Given the description of an element on the screen output the (x, y) to click on. 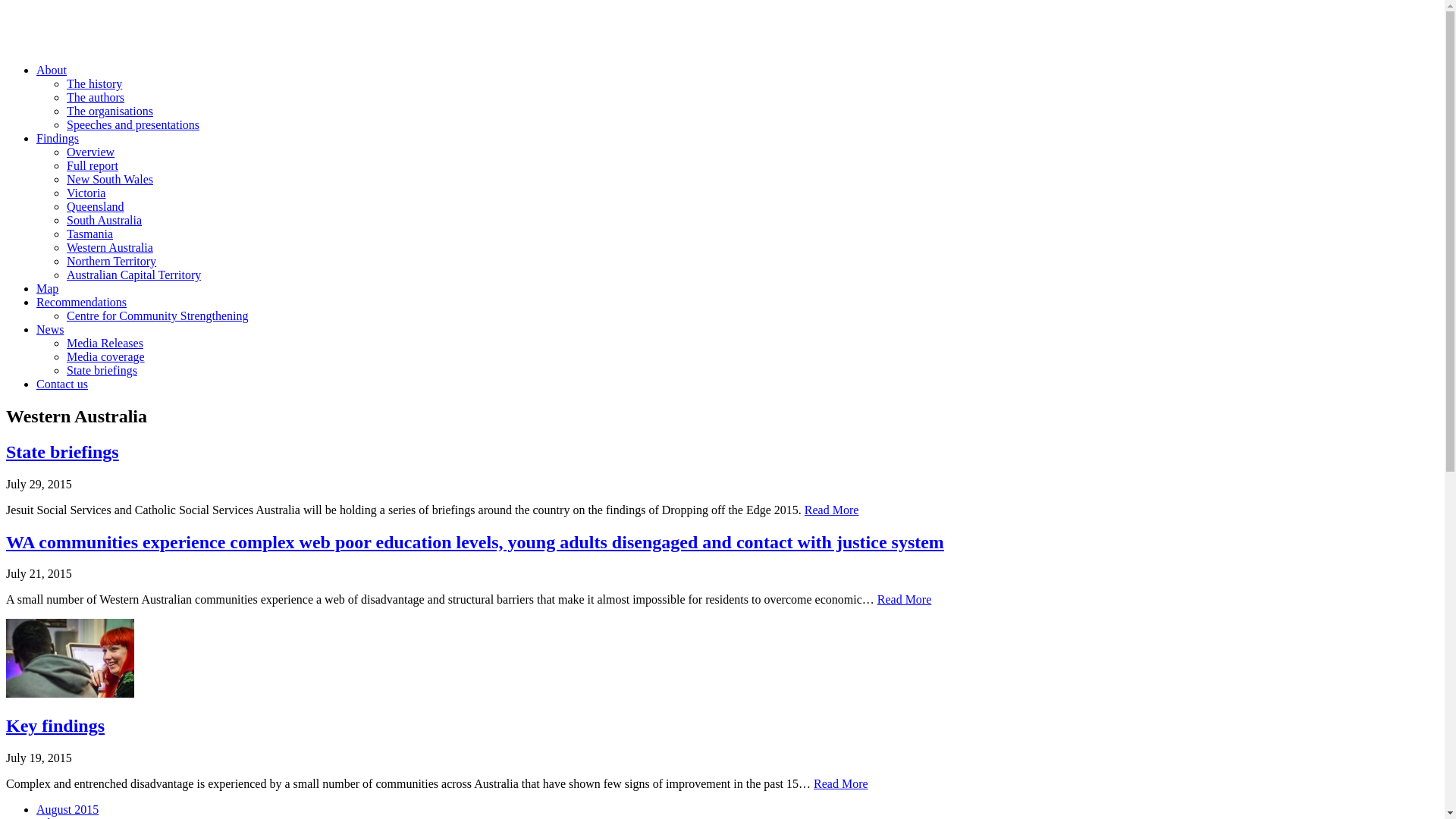
Overview Element type: text (90, 151)
Read More Element type: text (831, 509)
State briefings Element type: text (101, 370)
Dote 2015 Element type: hover (85, 32)
Findings Element type: text (57, 137)
Centre for Community Strengthening Element type: text (157, 315)
The organisations Element type: text (109, 110)
Key findings Element type: text (55, 725)
The authors Element type: text (95, 97)
New South Wales Element type: text (109, 178)
Recommendations Element type: text (81, 301)
Victoria Element type: text (85, 192)
News Element type: text (49, 329)
Media Releases Element type: text (104, 342)
Speeches and presentations Element type: text (132, 124)
Map Element type: text (47, 288)
Contact us Element type: text (61, 383)
The history Element type: text (94, 83)
Media coverage Element type: text (105, 356)
Read More Element type: text (840, 783)
Western Australia Element type: text (109, 247)
About Element type: text (51, 69)
Full report Element type: text (92, 165)
South Australia Element type: text (103, 219)
Australian Capital Territory Element type: text (133, 274)
State briefings Element type: text (62, 451)
Northern Territory Element type: text (111, 260)
Queensland Element type: text (95, 206)
Tasmania Element type: text (89, 233)
Read More Element type: text (904, 599)
August 2015 Element type: text (67, 809)
